Given the description of an element on the screen output the (x, y) to click on. 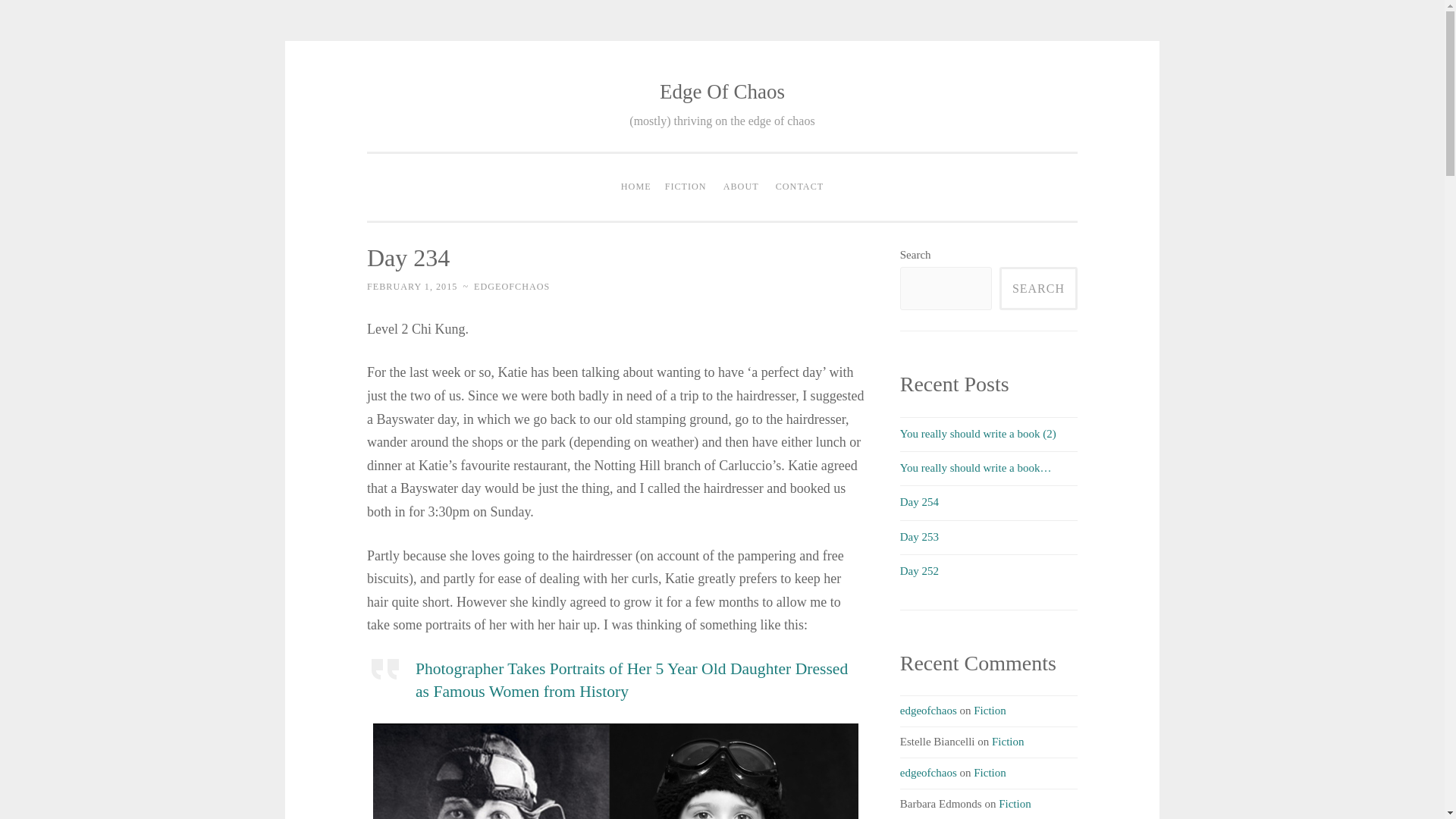
Fiction (990, 710)
Fiction (1014, 803)
Edge Of Chaos (721, 91)
FEBRUARY 1, 2015 (411, 286)
SEARCH (1037, 288)
FICTION (685, 186)
Day 254 (919, 501)
edgeofchaos (927, 772)
edgeofchaos (927, 710)
Fiction (1008, 741)
ABOUT (740, 186)
Fiction (990, 772)
Day 252 (919, 571)
